Given the description of an element on the screen output the (x, y) to click on. 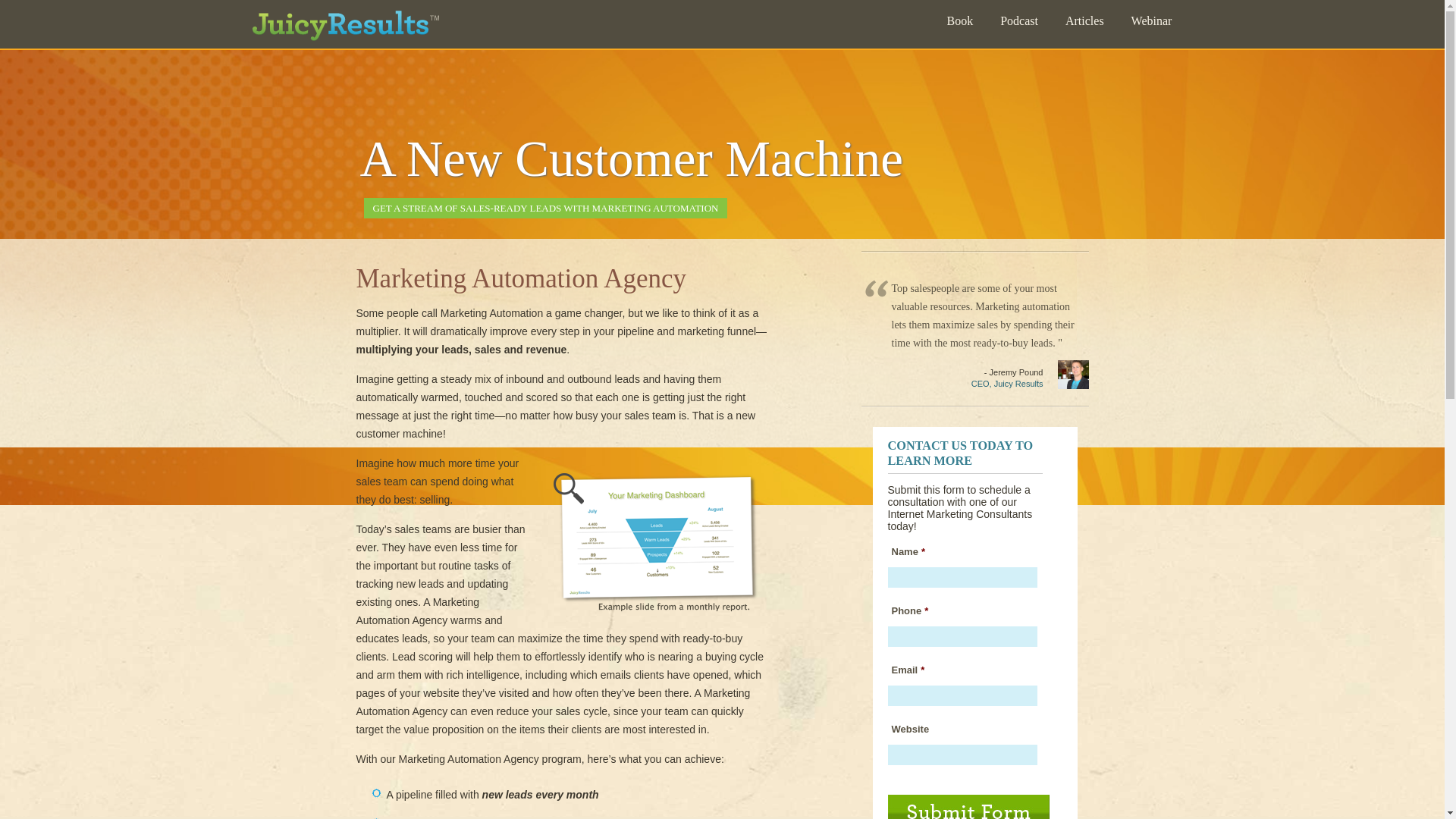
Podcast (1018, 22)
Webinar (1151, 22)
Articles (1084, 22)
Book (959, 22)
CEO, Juicy Results (1007, 383)
